Given the description of an element on the screen output the (x, y) to click on. 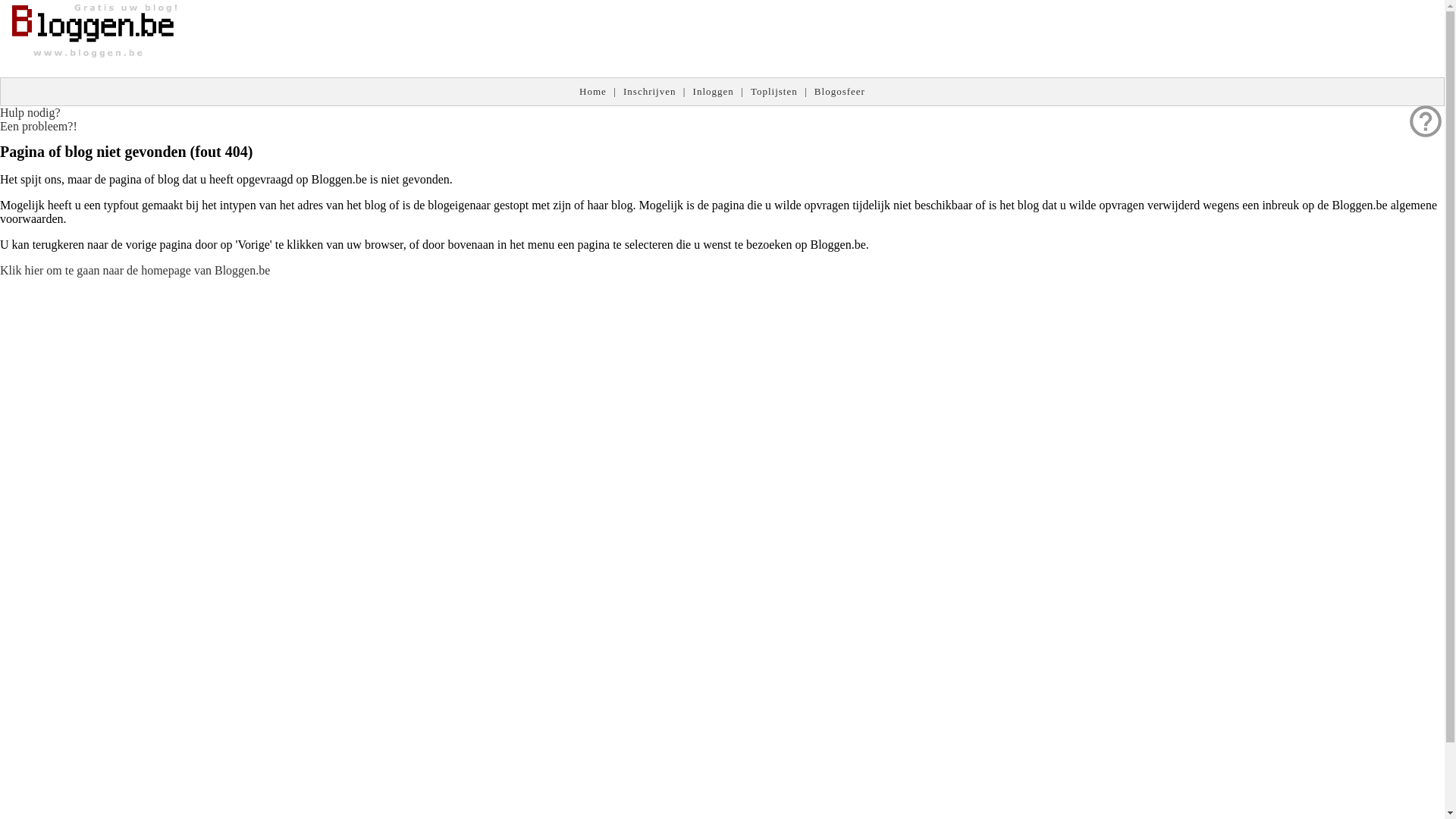
Klik hier om te gaan naar de homepage van Bloggen.be Element type: text (134, 269)
Inschrijven Element type: text (649, 91)
Toplijsten Element type: text (773, 91)
Inloggen Element type: text (713, 91)
Blogosfeer Element type: text (839, 91)
Home Element type: text (592, 91)
help_outline
Hulp nodig?
Een probleem?! Element type: text (38, 119)
